Given the description of an element on the screen output the (x, y) to click on. 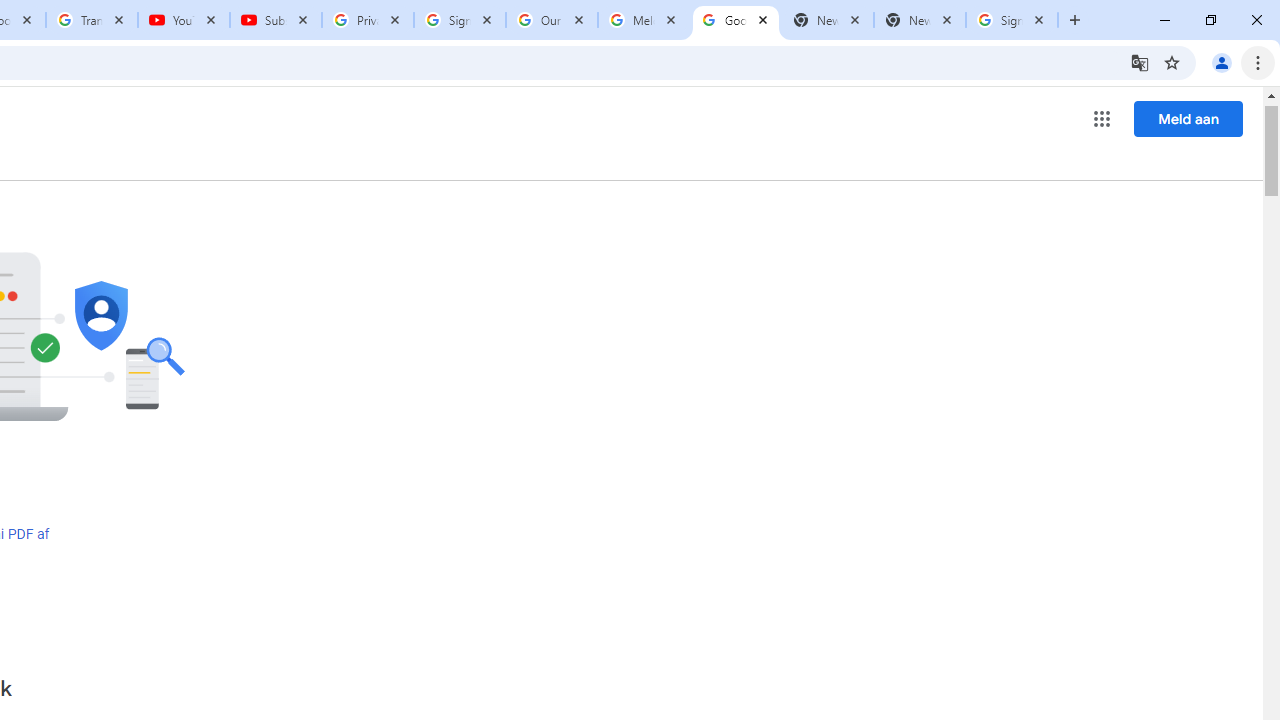
Subscriptions - YouTube (276, 20)
Sign in - Google Accounts (459, 20)
Sign in - Google Accounts (1012, 20)
Translate this page (1139, 62)
Google-programme (1101, 118)
Meld aan (1188, 118)
